Given the description of an element on the screen output the (x, y) to click on. 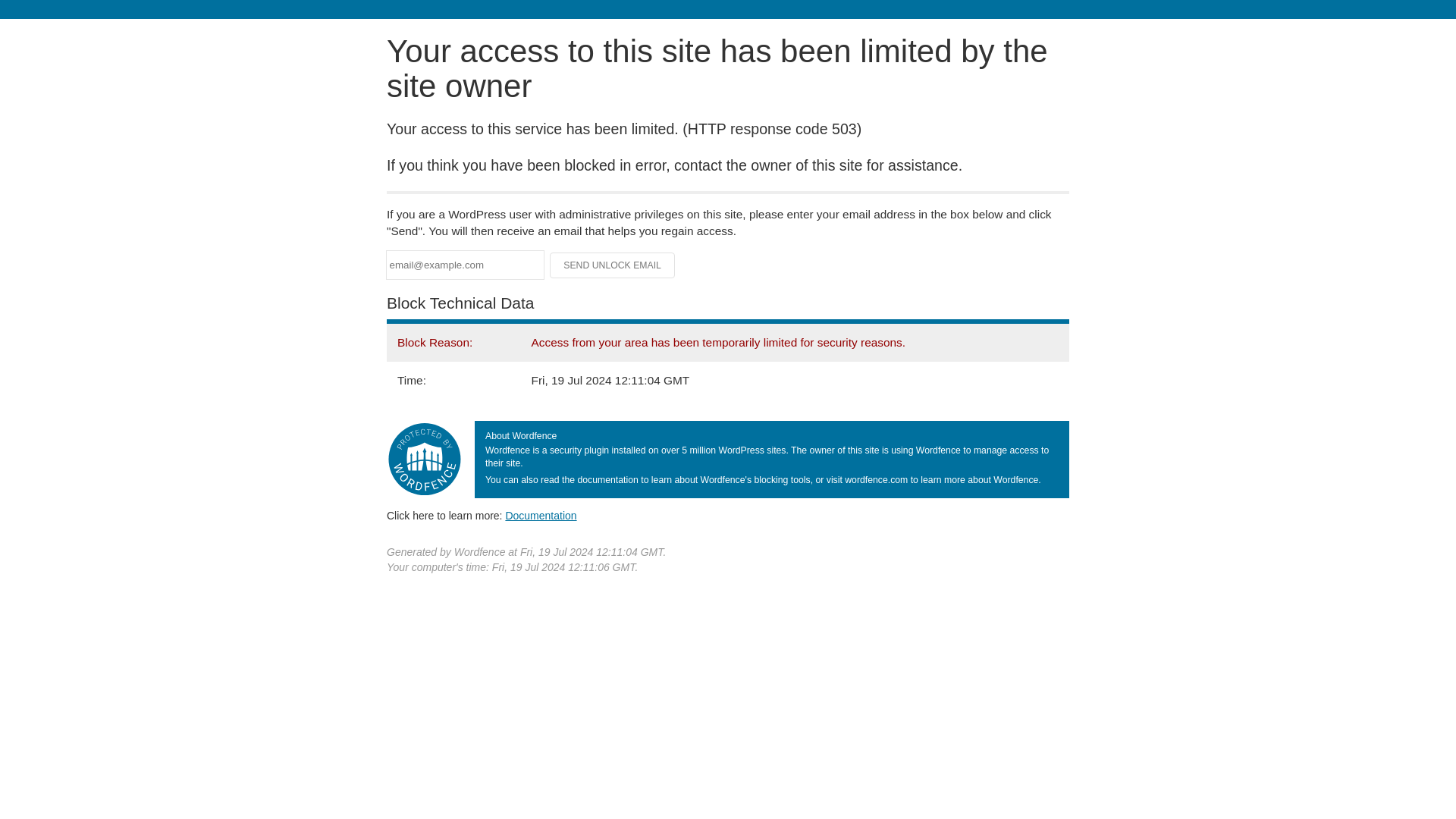
Send Unlock Email (612, 265)
Send Unlock Email (612, 265)
Documentation (540, 515)
